Given the description of an element on the screen output the (x, y) to click on. 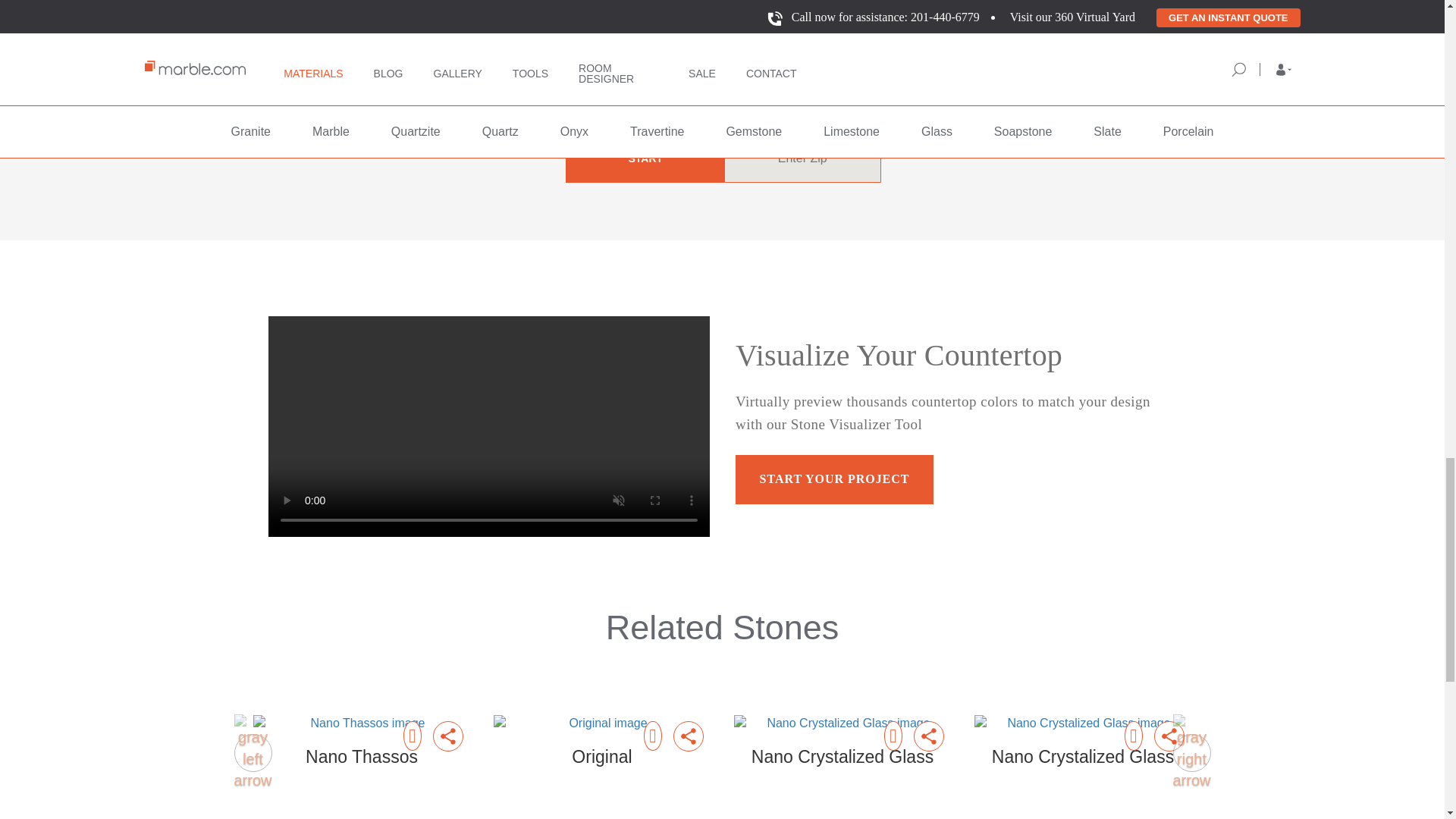
Original (601, 721)
share to friends (447, 736)
Nano Crystalized Glass (842, 756)
Nano Crystalized Glass (1082, 721)
share to friends (927, 736)
share to friends (1169, 736)
share to friends (687, 736)
Original (601, 756)
Nano Crystalized Glass (1082, 756)
Nano Thassos (361, 756)
